Given the description of an element on the screen output the (x, y) to click on. 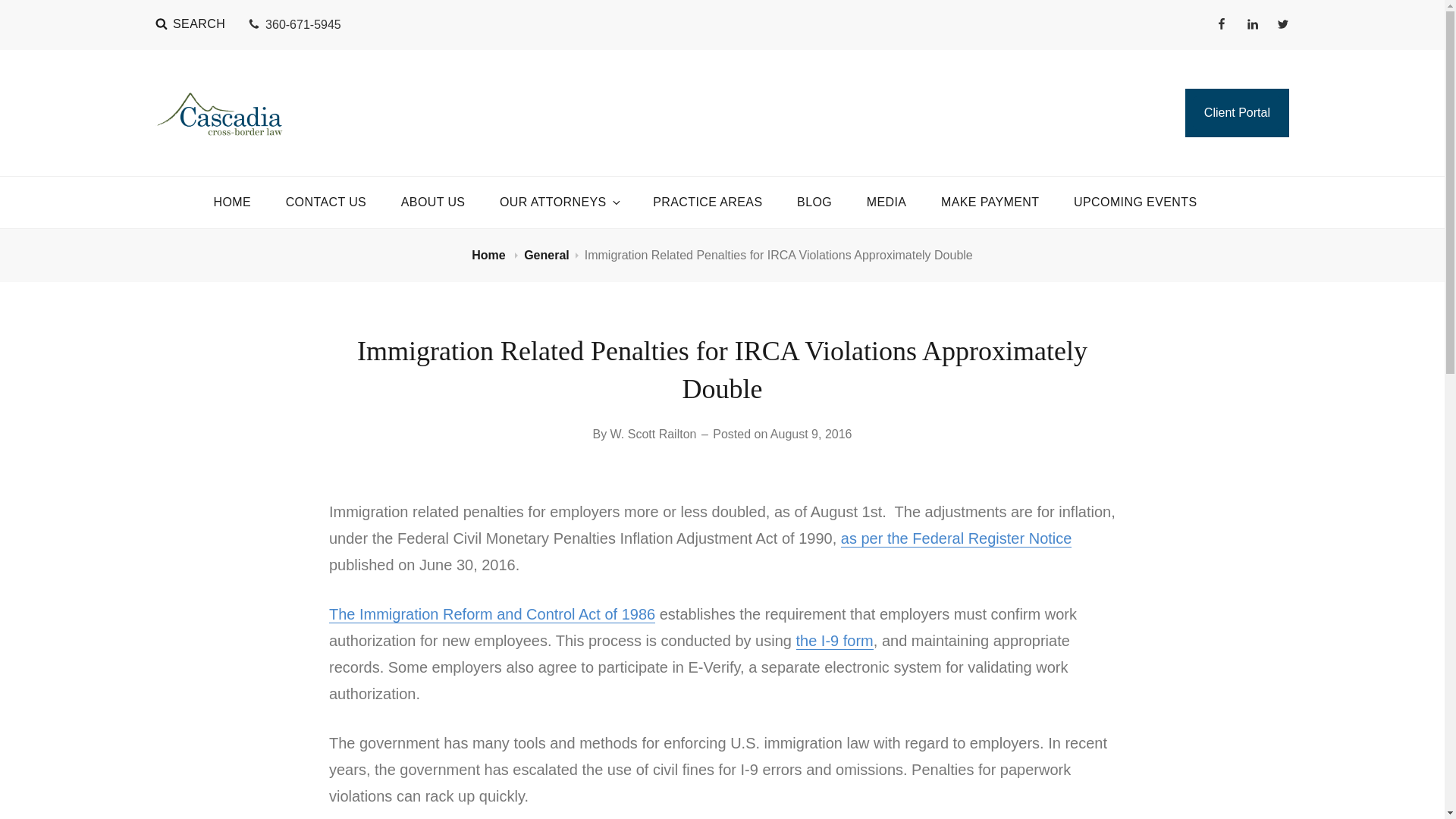
I-9 Form (834, 640)
FR Vol 81 No 126 (956, 538)
as per the Federal Register Notice (956, 538)
HOME (232, 202)
Home (489, 254)
the I-9 form (834, 640)
W. Scott Railton (653, 433)
The Immigration Reform and Control Act of 1986 (492, 614)
OUR ATTORNEYS (558, 202)
SEARCH (189, 24)
Client Portal (1236, 112)
CASCADIA CROSS-BORDER LAW (447, 100)
BLOG (814, 202)
MAKE PAYMENT (990, 202)
360-671-5945 (293, 24)
